Given the description of an element on the screen output the (x, y) to click on. 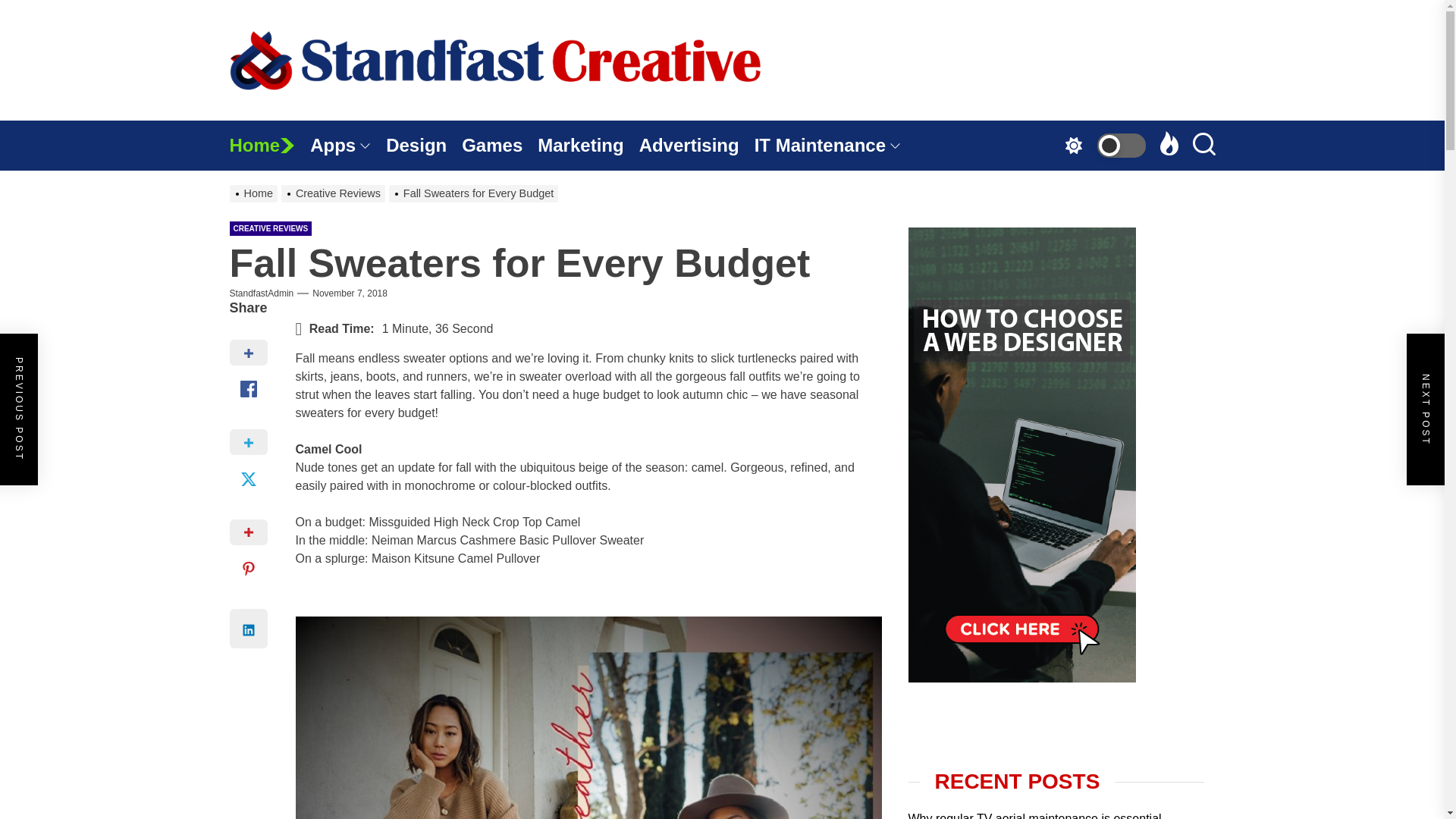
IT Maintenance (834, 145)
Advertising (696, 145)
Design (423, 145)
Apps (347, 145)
Home (269, 145)
Games (499, 145)
Home (269, 145)
Standfast Creative (594, 140)
Marketing (588, 145)
